Given the description of an element on the screen output the (x, y) to click on. 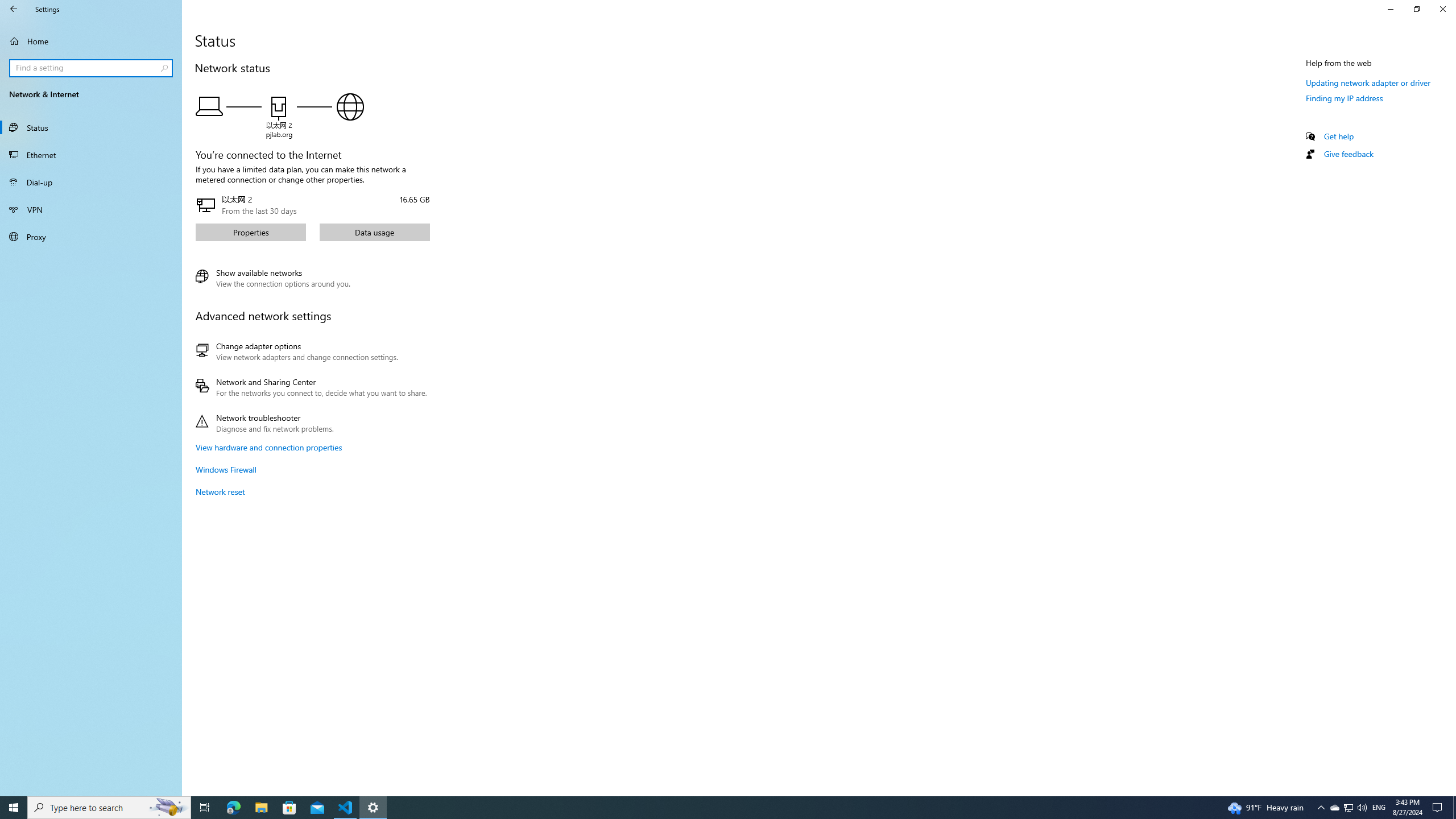
Status (91, 126)
Give feedback (1348, 153)
Network reset (219, 491)
Search box, Find a setting (91, 67)
